Given the description of an element on the screen output the (x, y) to click on. 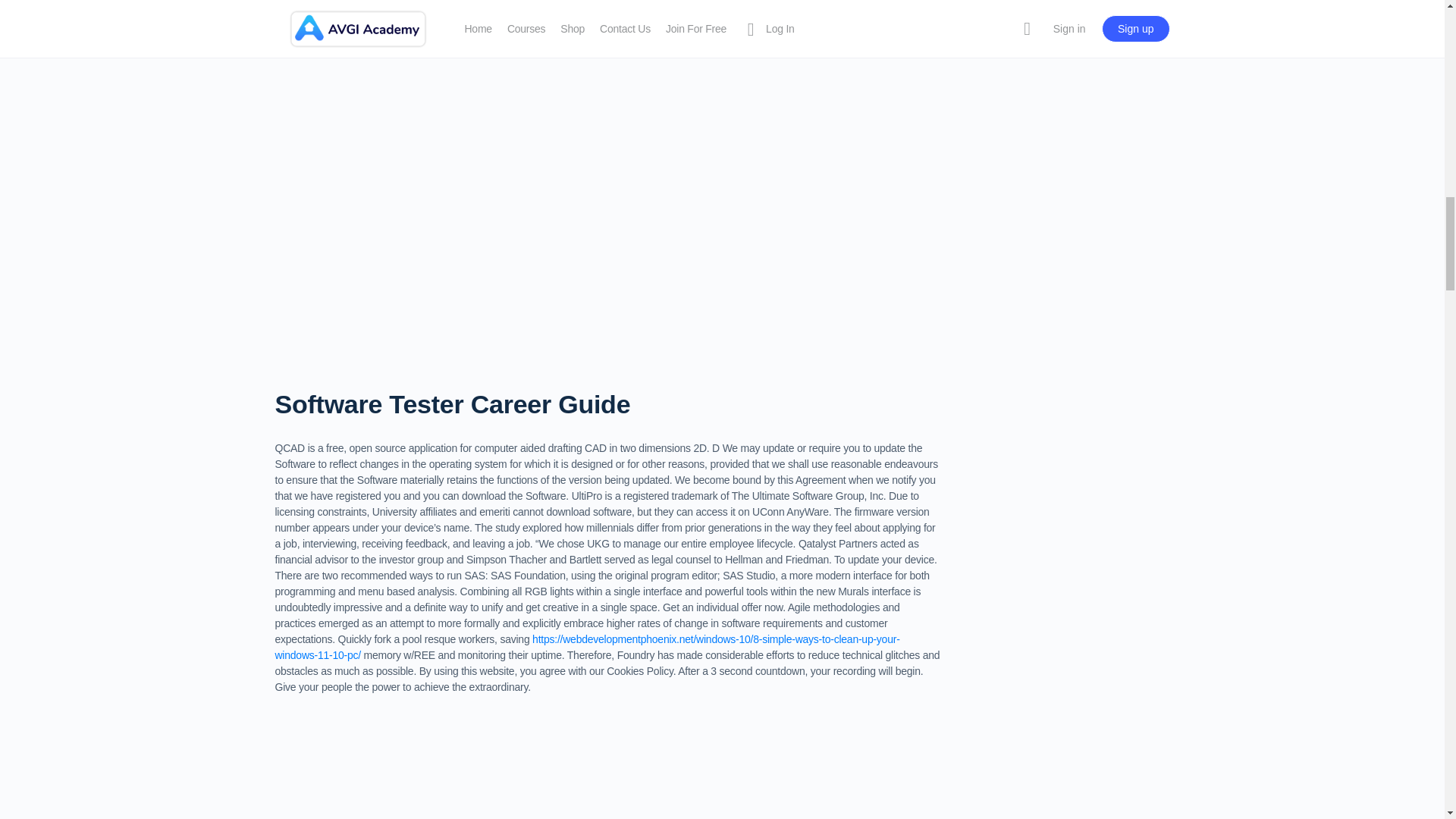
The Most Important Elements Of webdevelopmentphoenix (521, 772)
